Given the description of an element on the screen output the (x, y) to click on. 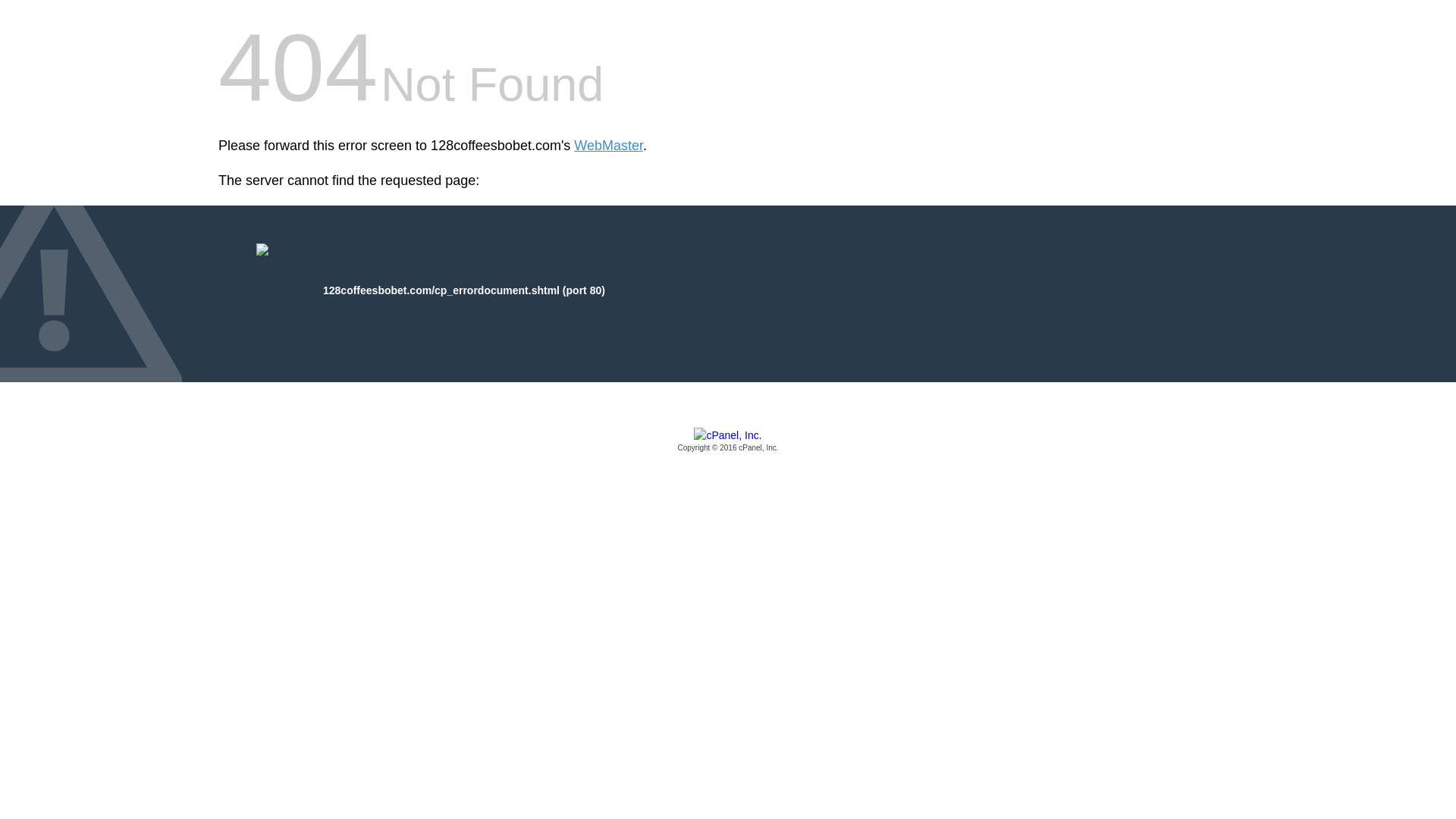
WebMaster Element type: text (608, 145)
